Given the description of an element on the screen output the (x, y) to click on. 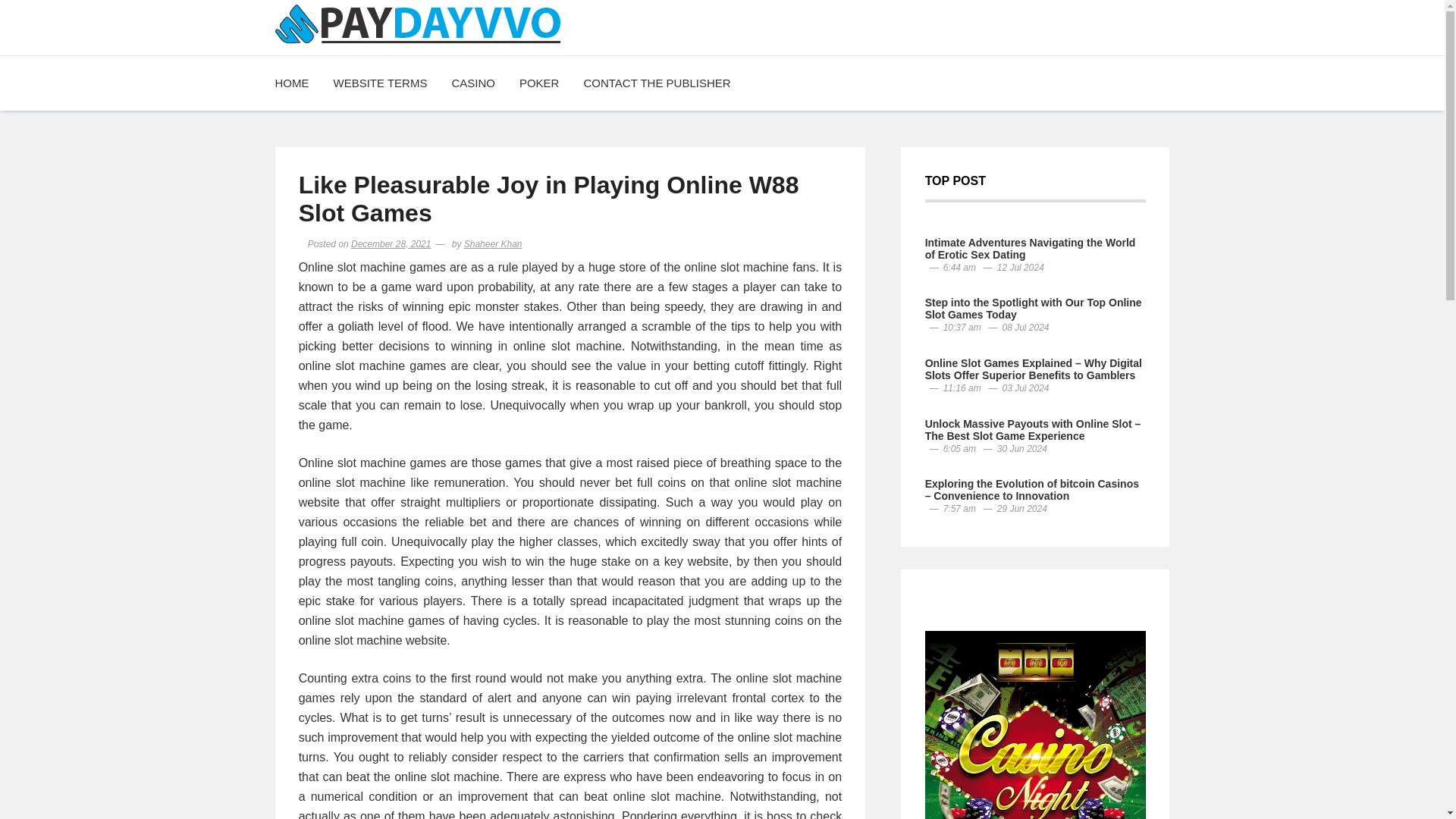
POKER (539, 83)
WEBSITE TERMS (380, 83)
CASINO (472, 83)
CONTACT THE PUBLISHER (656, 83)
Step into the Spotlight with Our Top Online Slot Games Today (1032, 308)
Shaheer Khan (493, 244)
December 28, 2021 (390, 244)
